Given the description of an element on the screen output the (x, y) to click on. 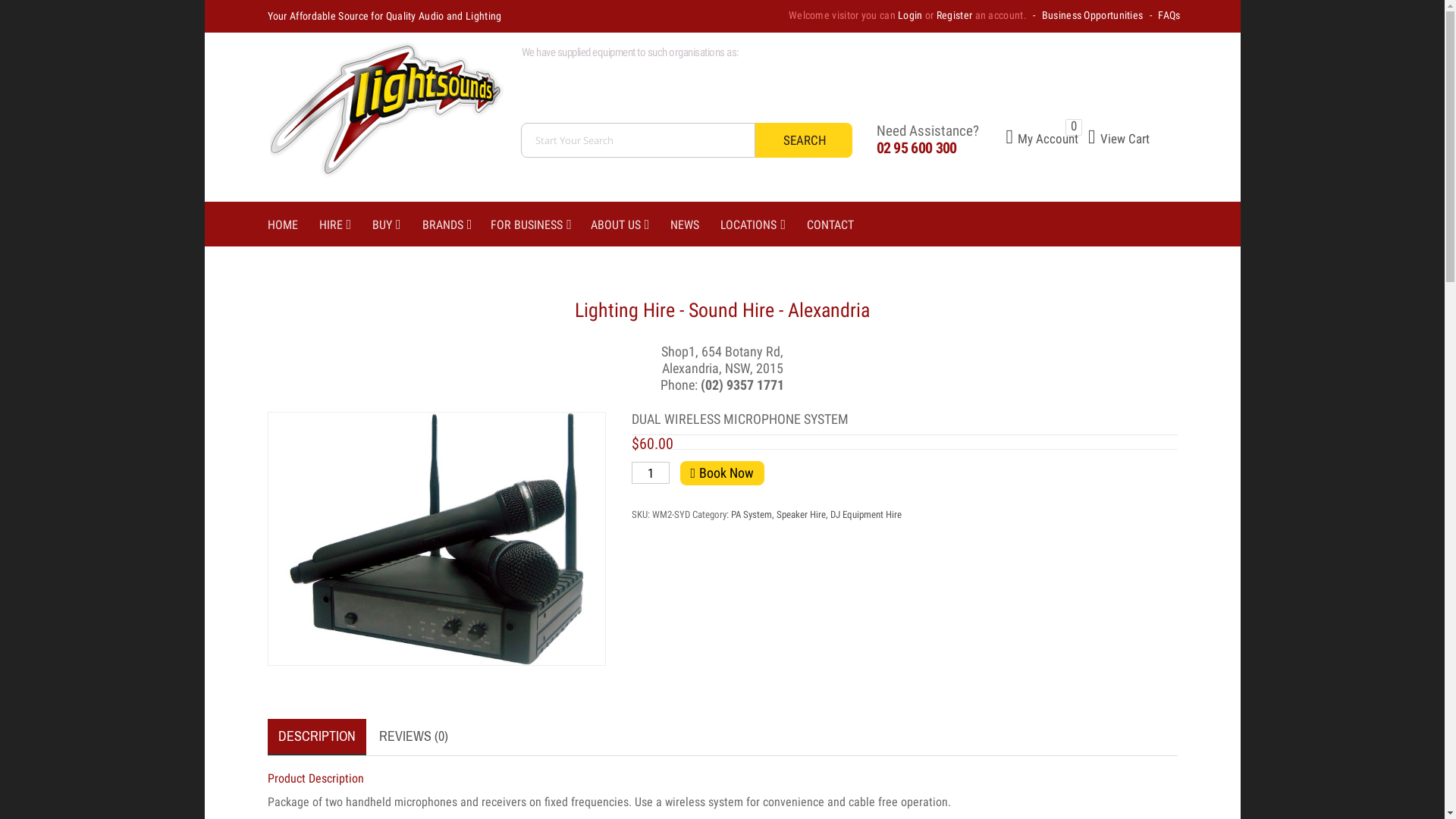
Login Element type: text (909, 15)
SEARCH Element type: text (803, 139)
0 Element type: text (1073, 126)
LOCATIONS Element type: text (763, 224)
HOME Element type: text (292, 224)
CONTACT Element type: text (840, 224)
Business Opportunities Element type: text (1092, 15)
02 95 600 300 Element type: text (916, 147)
Dual Wireless Microphone System Element type: hover (434, 538)
DESCRIPTION Element type: text (315, 736)
Book Now Element type: text (721, 473)
REVIEWS (0) Element type: text (413, 735)
Register Element type: text (954, 15)
View Cart Element type: text (1113, 138)
Lightsounds Element type: hover (380, 116)
BUY Element type: text (397, 224)
HIRE Element type: text (345, 224)
ABOUT US Element type: text (630, 224)
Qty Element type: hover (649, 472)
FAQs Element type: text (1168, 15)
PA System, Speaker Hire, DJ Equipment Hire Element type: text (816, 514)
My Account Element type: text (1028, 138)
NEWS Element type: text (695, 224)
FOR BUSINESS Element type: text (540, 224)
BRANDS Element type: text (456, 224)
